Given the description of an element on the screen output the (x, y) to click on. 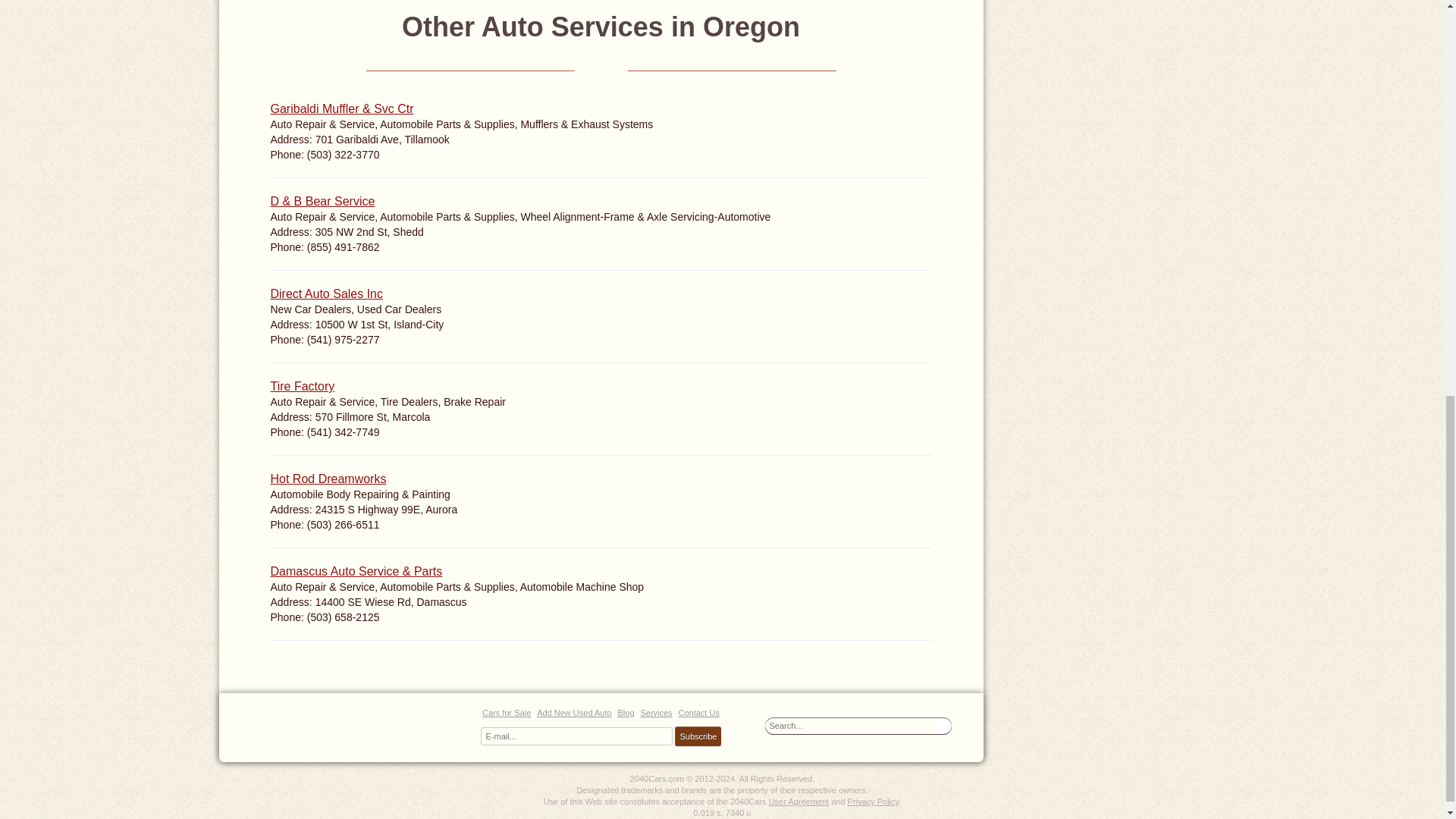
Subscribe (697, 736)
Subscribe (697, 736)
Cars (350, 724)
Direct Auto Sales Inc (325, 293)
Add New Used Auto (574, 712)
Hot Rod Dreamworks (327, 478)
Privacy Policy (873, 800)
Cars for Sale (506, 712)
Blog (625, 712)
Contact Us (698, 712)
